Given the description of an element on the screen output the (x, y) to click on. 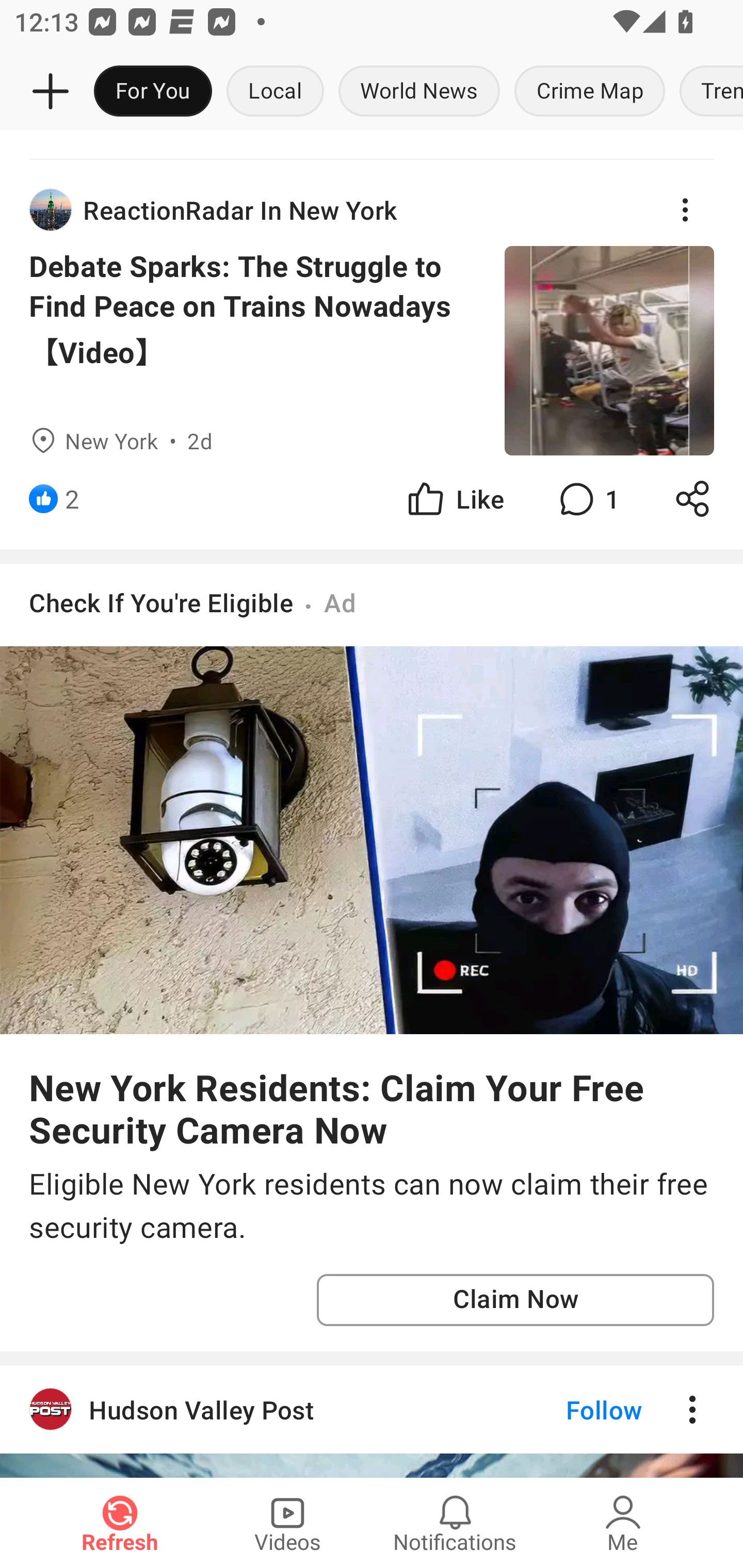
For You (152, 91)
Local (275, 91)
World News (419, 91)
Crime Map (589, 91)
2 (72, 498)
Like (454, 498)
1 (587, 498)
Check If You're Eligible (160, 601)
Claim Now (515, 1299)
Hudson Valley Post Follow (371, 1409)
Follow (569, 1409)
Videos (287, 1522)
Notifications (455, 1522)
Me (622, 1522)
